Given the description of an element on the screen output the (x, y) to click on. 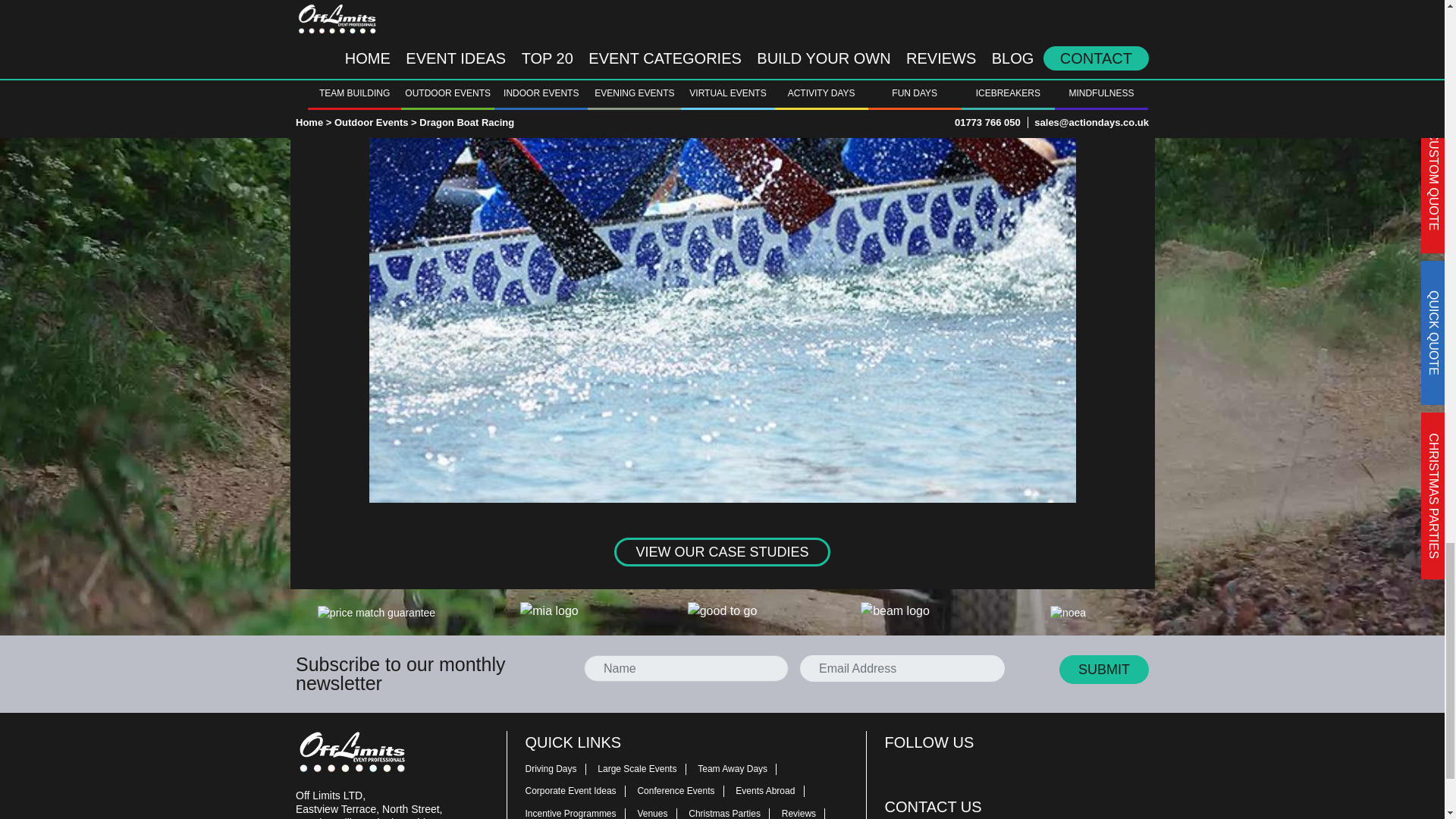
Driving Days (559, 767)
Large Scale Events (645, 767)
Events Abroad (773, 789)
Corporate Event Ideas (578, 789)
Team Away Days (740, 767)
SUBMIT (1103, 669)
Conference Events (684, 789)
VIEW OUR CASE STUDIES (721, 551)
